Given the description of an element on the screen output the (x, y) to click on. 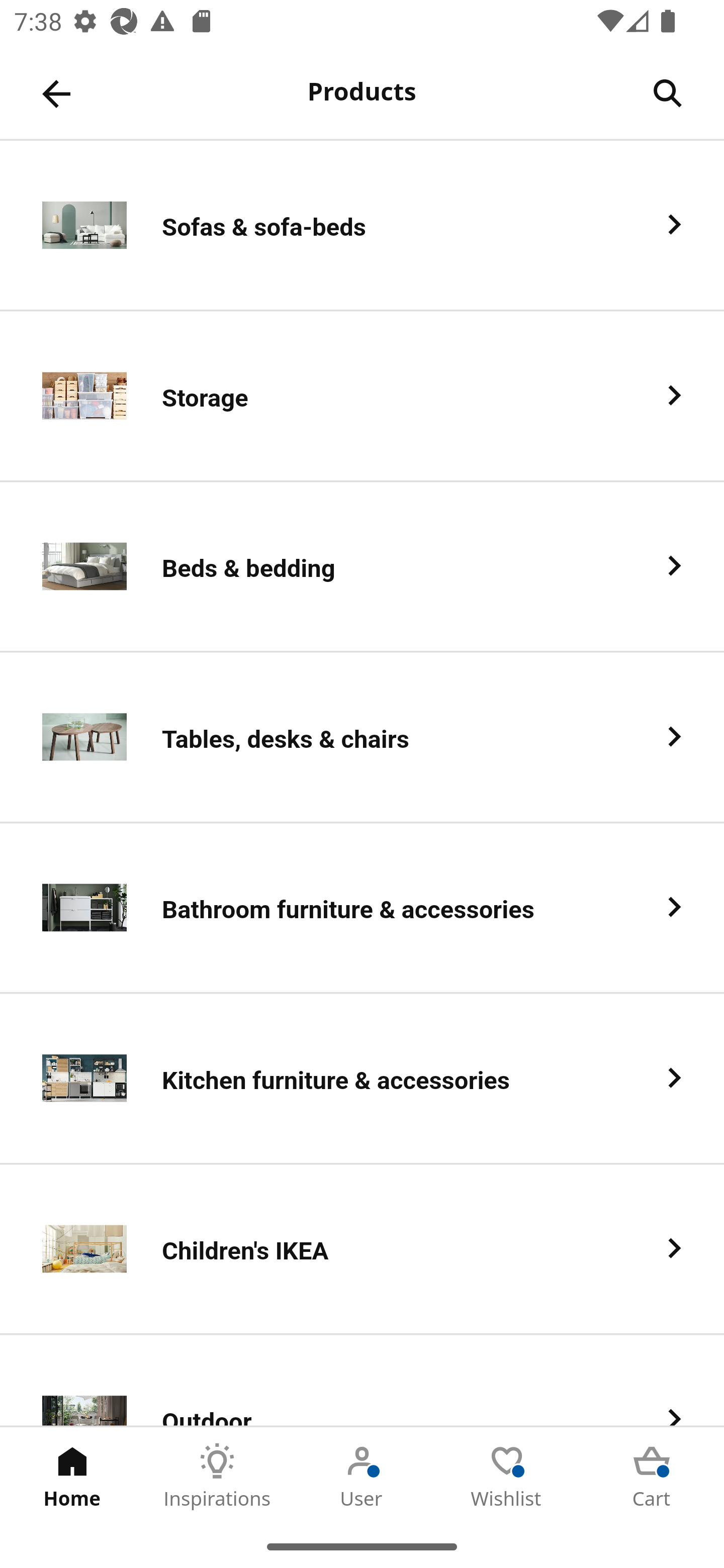
Sofas & sofa-beds (362, 226)
Storage (362, 396)
Beds & bedding (362, 566)
Tables, desks & chairs (362, 737)
Bathroom furniture & accessories (362, 908)
Kitchen furniture & accessories (362, 1079)
Children's IKEA (362, 1250)
Home
Tab 1 of 5 (72, 1476)
Inspirations
Tab 2 of 5 (216, 1476)
User
Tab 3 of 5 (361, 1476)
Wishlist
Tab 4 of 5 (506, 1476)
Cart
Tab 5 of 5 (651, 1476)
